Given the description of an element on the screen output the (x, y) to click on. 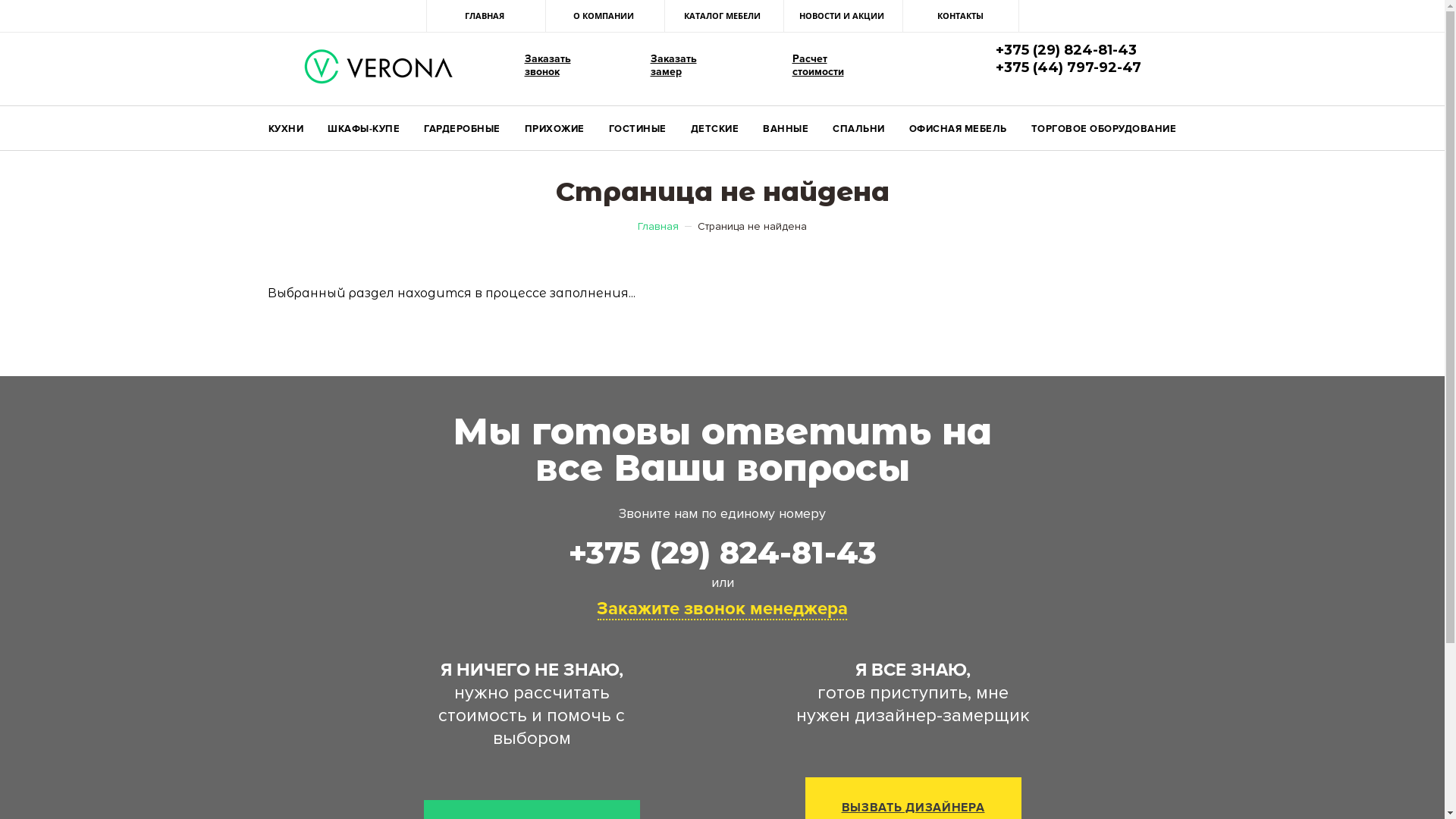
+375 (29) 824-81-43 Element type: text (1055, 49)
+375 (44) 797-92-47 Element type: text (1057, 67)
+375 (29) 824-81-43 Element type: text (721, 552)
